Given the description of an element on the screen output the (x, y) to click on. 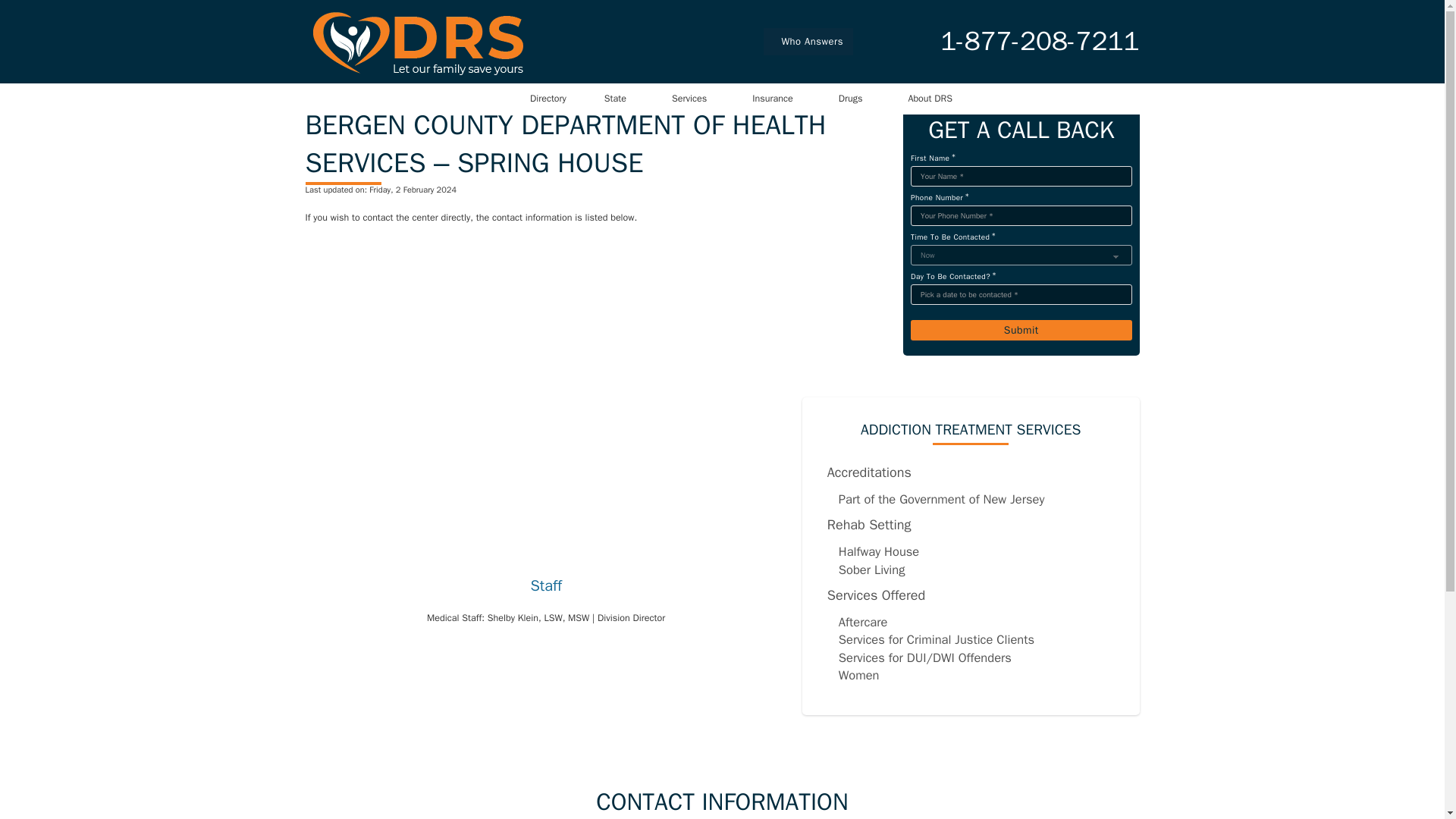
1-877-208-7211 (1039, 40)
Directory (547, 98)
State (615, 98)
